Given the description of an element on the screen output the (x, y) to click on. 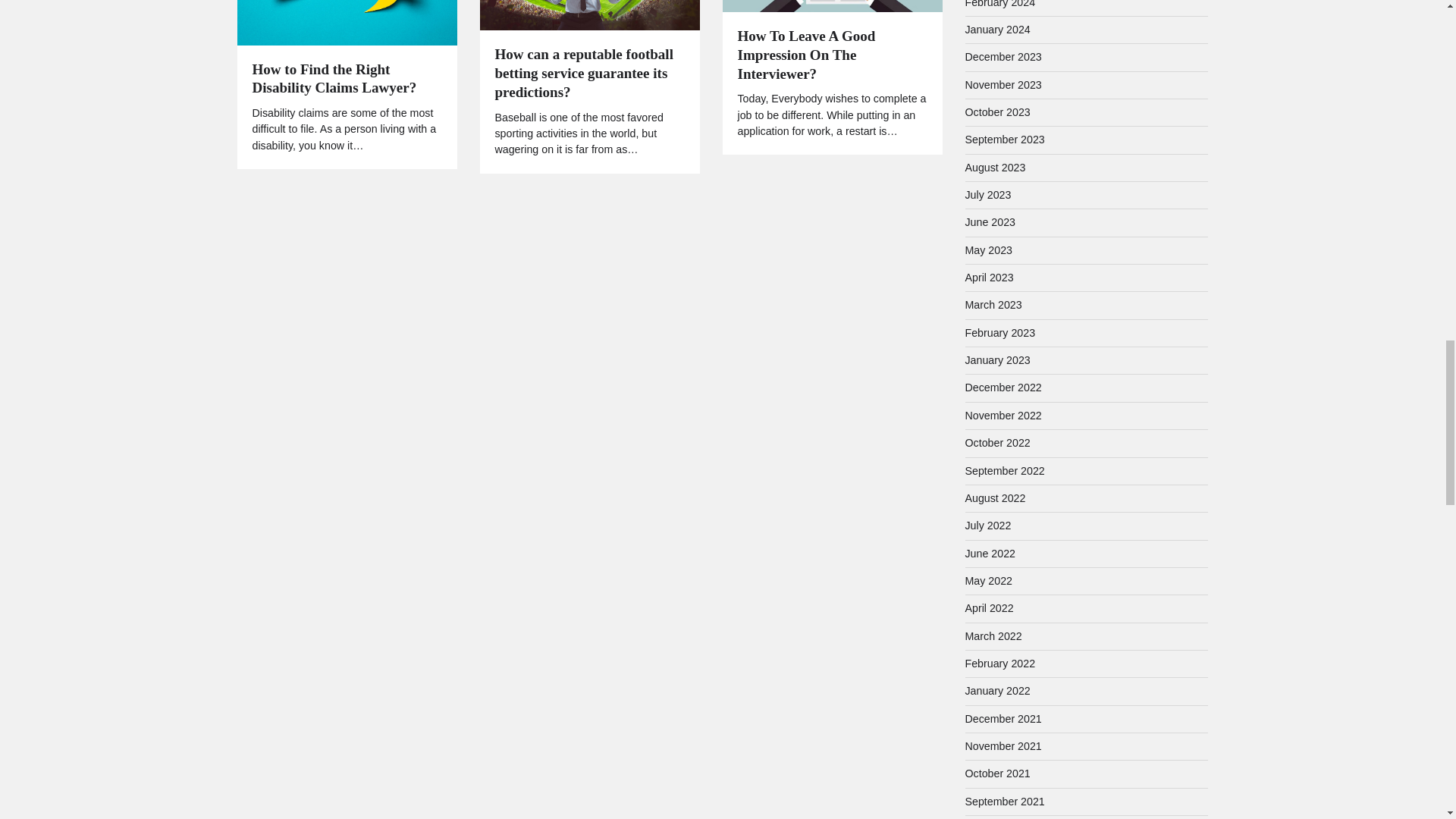
How To Leave A Good Impression On The Interviewer? (831, 55)
How to Find the Right Disability Claims Lawyer? (346, 79)
